Given the description of an element on the screen output the (x, y) to click on. 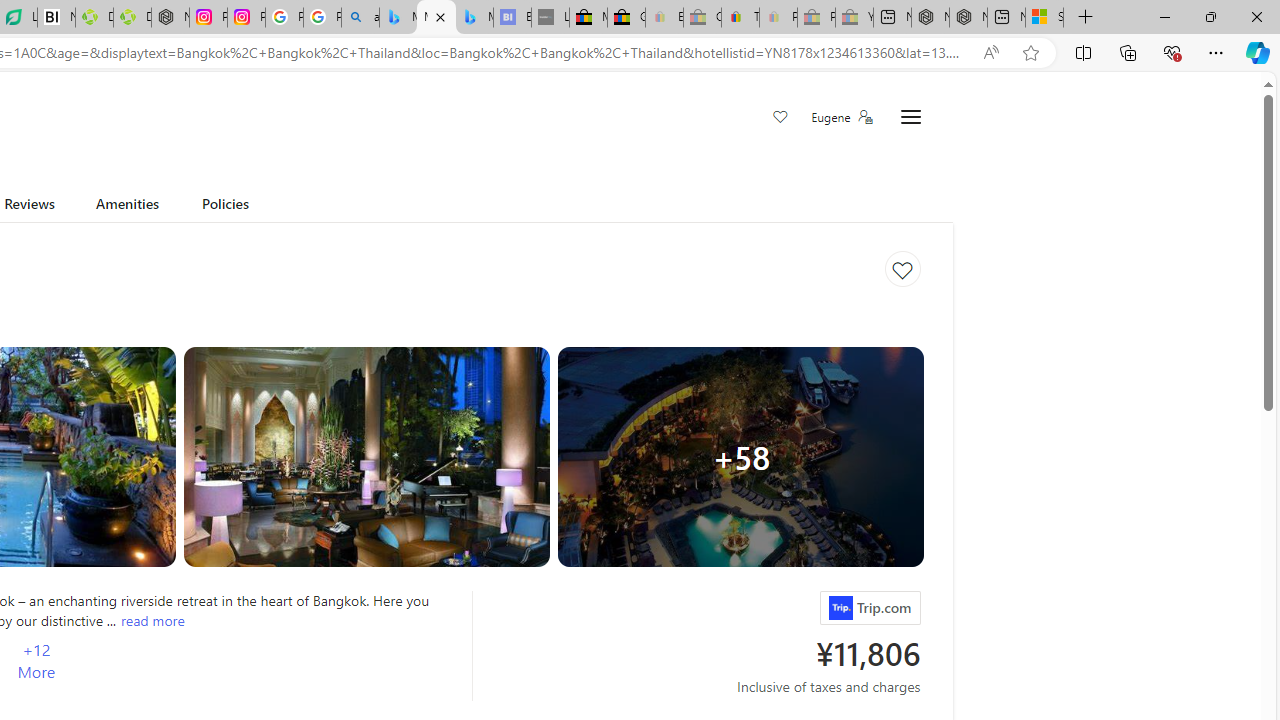
Microsoft Bing Travel - Shangri-La Hotel Bangkok (473, 17)
Save (780, 118)
Hotel room image (366, 457)
Nvidia va a poner a prueba la paciencia de los inversores (56, 17)
Yard, Garden & Outdoor Living - Sleeping (853, 17)
read more (152, 620)
Microsoft Bing Travel - Flights from Hong Kong to Bangkok (398, 17)
Save (780, 118)
